Given the description of an element on the screen output the (x, y) to click on. 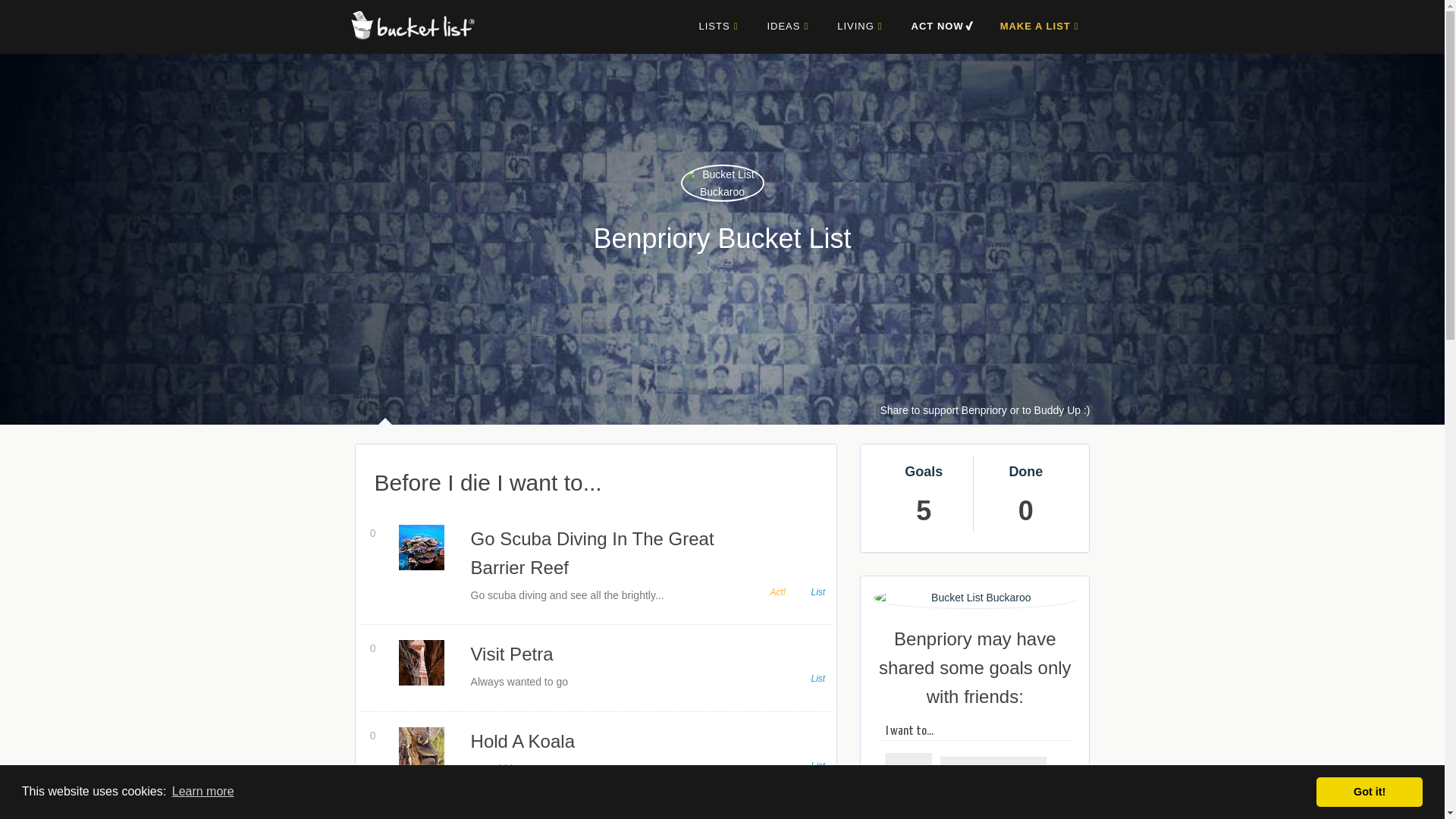
LIVING (859, 26)
List (815, 678)
List (815, 592)
Got it! (1369, 791)
IDEAS (787, 26)
Learn more (202, 791)
LISTS (718, 26)
Act! (775, 592)
MAKE A LIST (1039, 26)
List (815, 765)
